Given the description of an element on the screen output the (x, y) to click on. 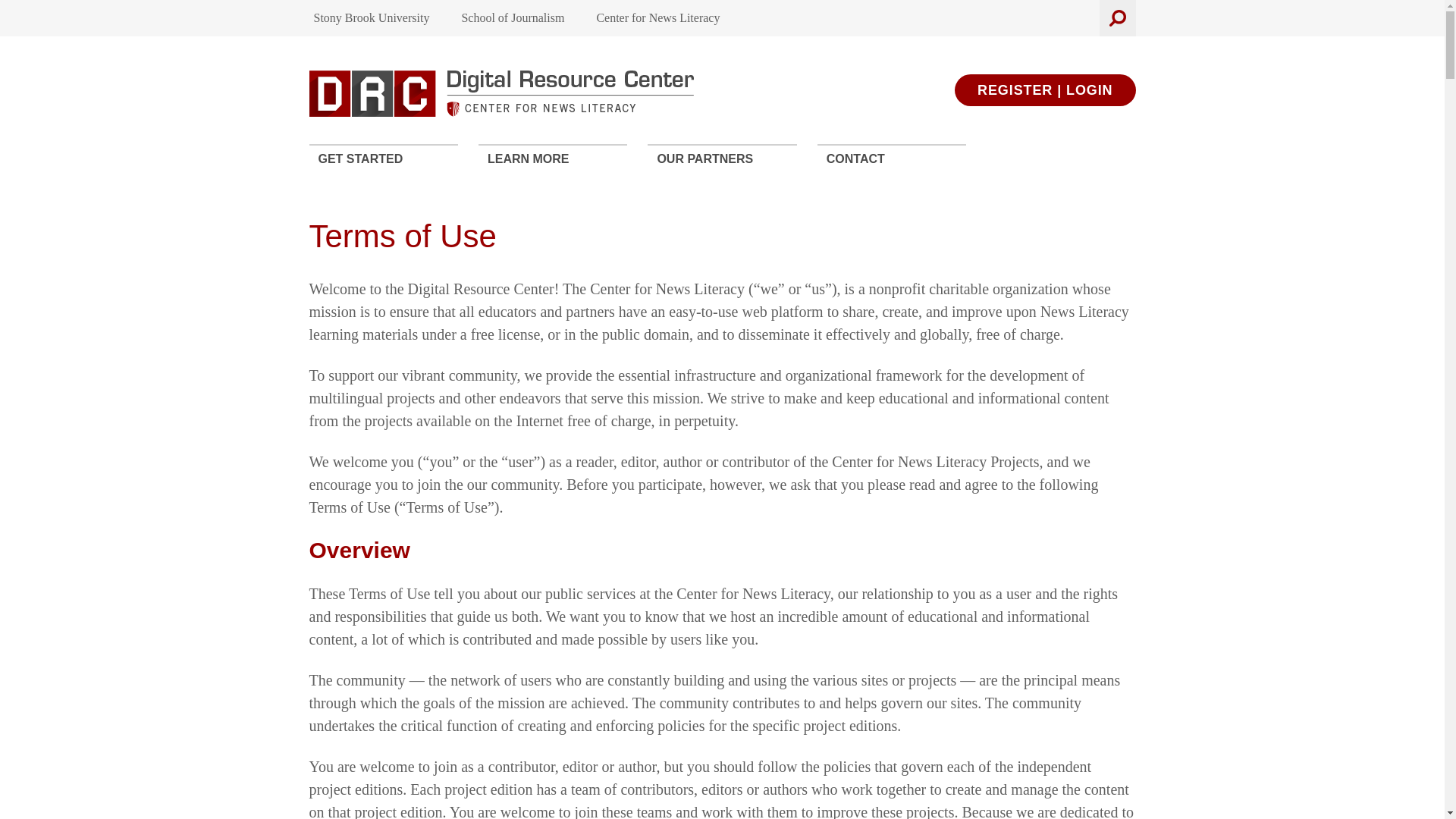
Search Element type: text (1089, 64)
Home Element type: hover (501, 93)
OUR PARTNERS Element type: text (721, 158)
CONTACT Element type: text (891, 158)
School of Journalism Element type: text (512, 18)
Center for News Literacy Element type: text (657, 18)
GET STARTED Element type: text (383, 158)
Stony Brook University Element type: text (371, 18)
LEARN MORE Element type: text (552, 158)
Skip to main content Element type: text (62, 11)
REGISTER | LOGIN Element type: text (1044, 90)
